Given the description of an element on the screen output the (x, y) to click on. 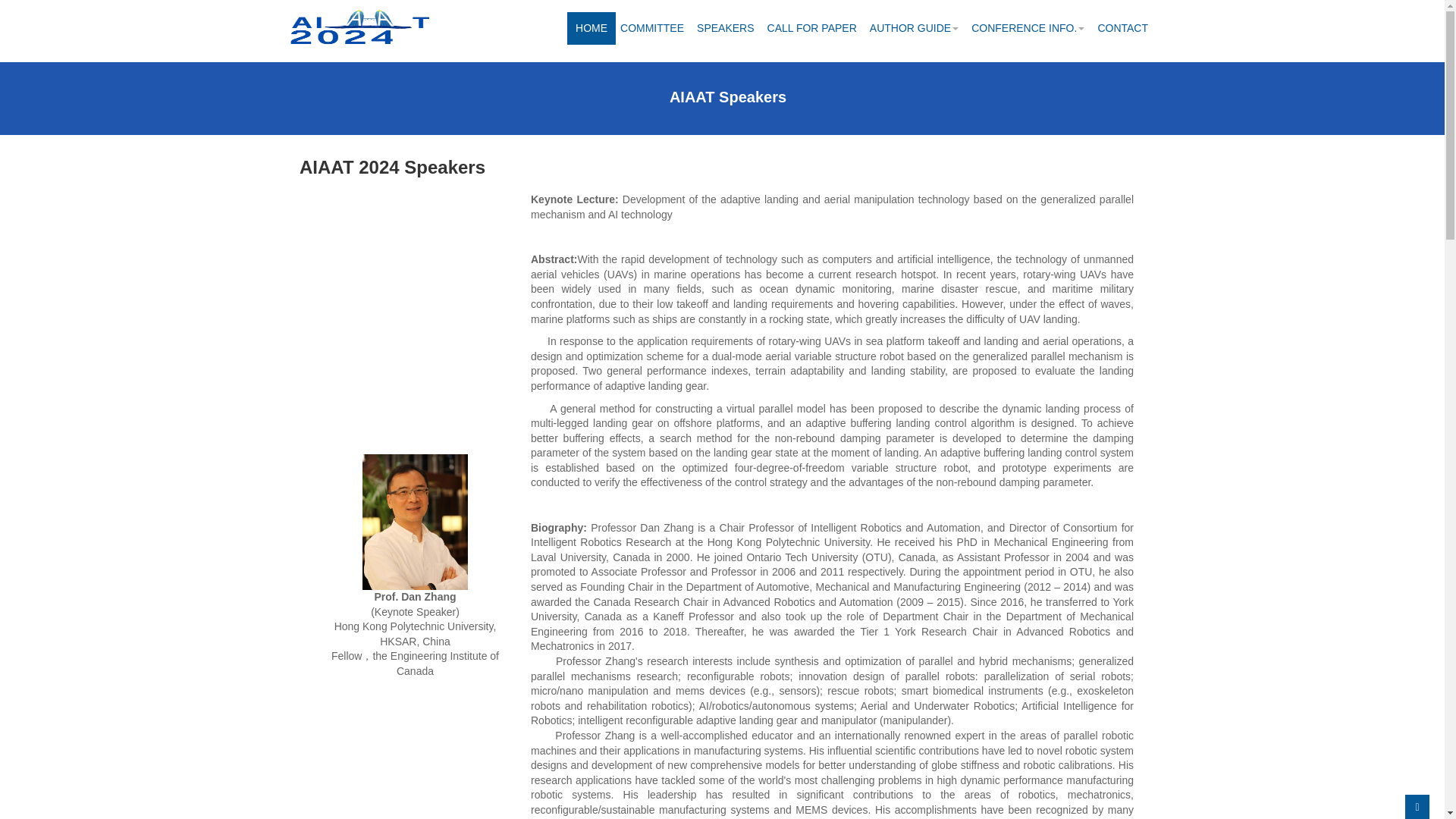
AUTHOR GUIDE (913, 28)
SPEAKERS (724, 28)
CONTACT (1122, 28)
COMMITTEE (652, 28)
HOME (591, 28)
CALL FOR PAPER (811, 28)
CONFERENCE INFO. (1027, 28)
